Given the description of an element on the screen output the (x, y) to click on. 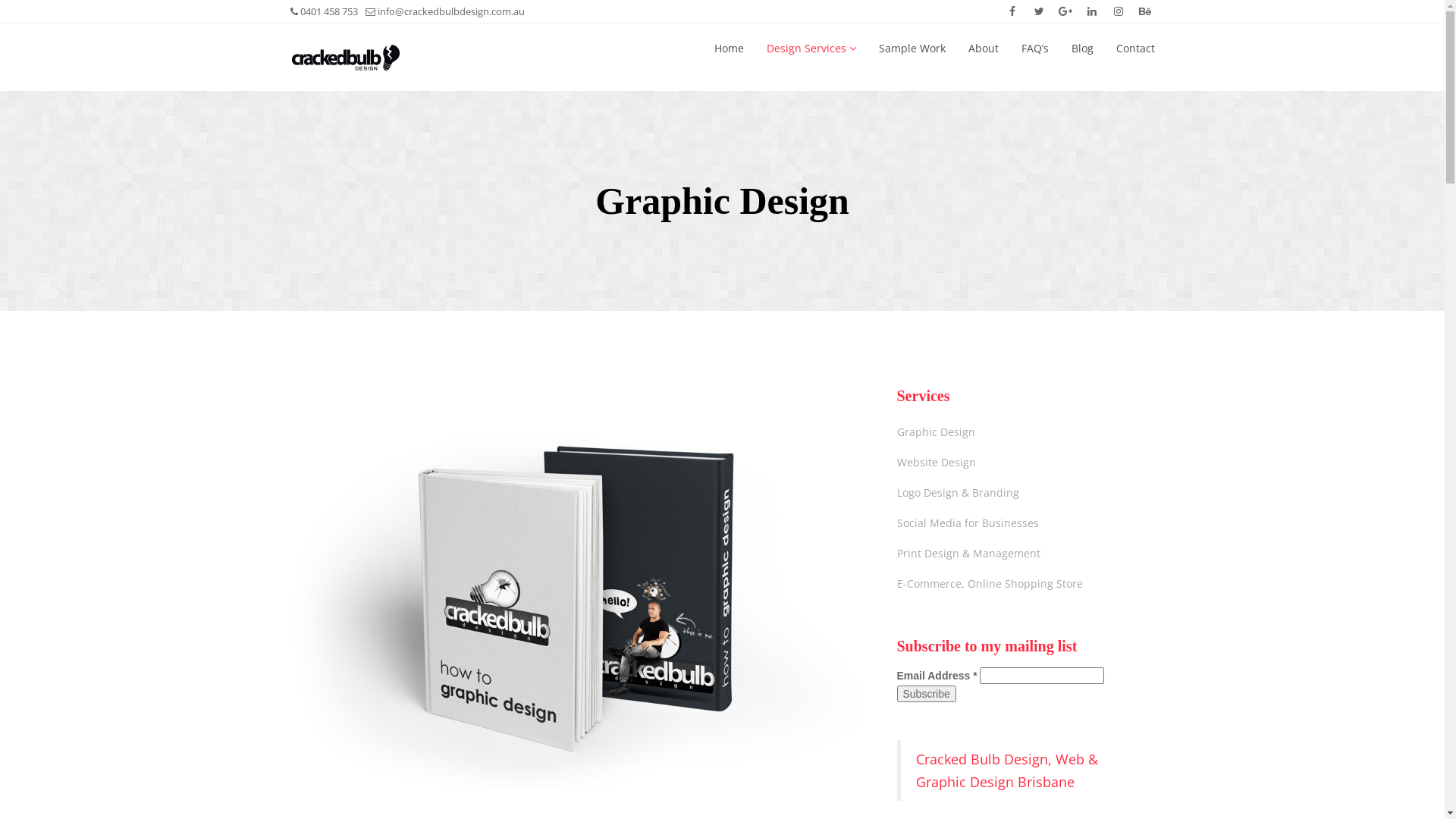
Design Services Element type: text (810, 48)
Graphic Design Element type: text (935, 431)
Cracked Bulb Design, Web & Graphic Design Brisbane Element type: text (1007, 769)
cracked-bulb-design-book-cover Element type: hover (573, 587)
 0401 458 753 Element type: text (323, 11)
Blog Element type: text (1081, 48)
Print Design & Management Element type: text (967, 553)
info@crackedbulbdesign.com.au Element type: text (444, 11)
Contact Element type: text (1135, 48)
Home Element type: text (728, 48)
Website Design Element type: text (935, 462)
Sample Work Element type: text (911, 48)
About Element type: text (982, 48)
E-Commerce, Online Shopping Store Element type: text (989, 583)
Subscribe Element type: text (925, 693)
Logo Design & Branding Element type: text (957, 492)
Social Media for Businesses Element type: text (967, 522)
